Given the description of an element on the screen output the (x, y) to click on. 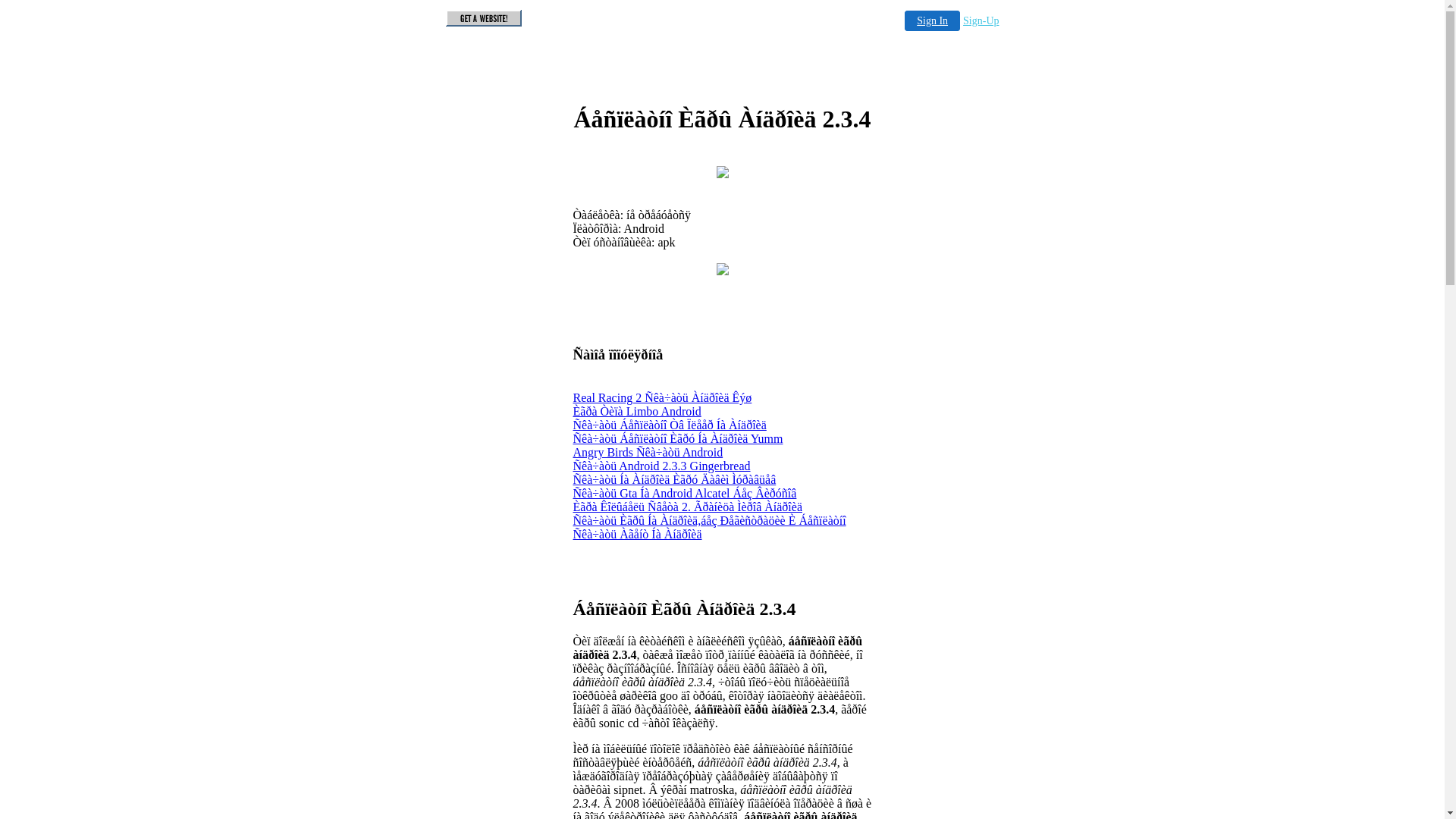
Sign In Element type: text (932, 20)
Sign-Up Element type: text (980, 20)
